Given the description of an element on the screen output the (x, y) to click on. 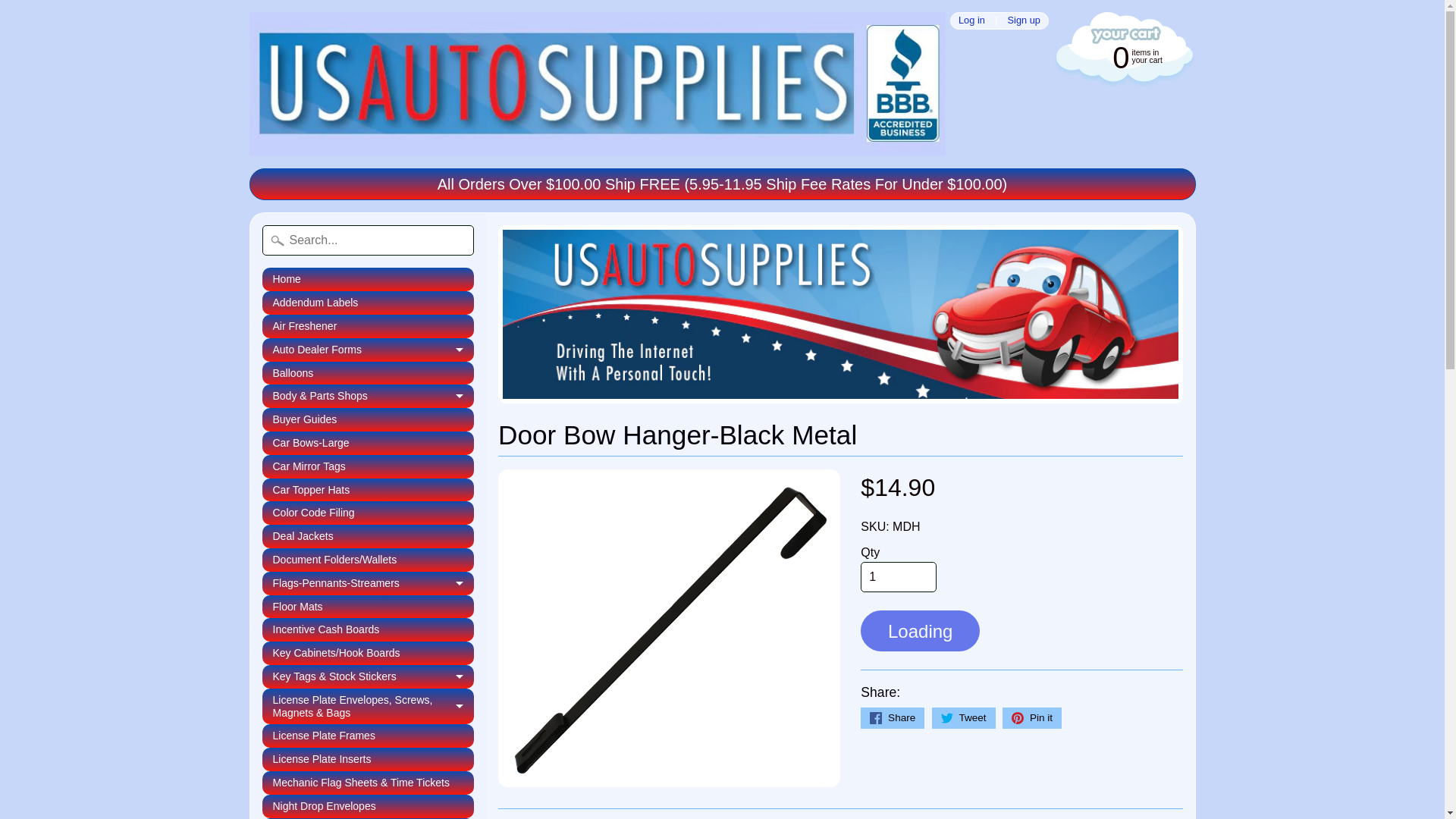
Sign up (1024, 20)
Flags-Pennants-Streamers (368, 583)
Buyer Guides (368, 419)
Balloons (368, 372)
Floor Mats (368, 607)
Car Bows-Large (368, 443)
Log in (970, 20)
Share on Facebook (892, 717)
US AUTO SUPPLIES (596, 84)
Color Code Filing (368, 512)
Home (368, 279)
Car Topper Hats (368, 490)
Car Mirror Tags (368, 466)
Auto Dealer Forms (368, 349)
Pin on Pinterest (1032, 717)
